Given the description of an element on the screen output the (x, y) to click on. 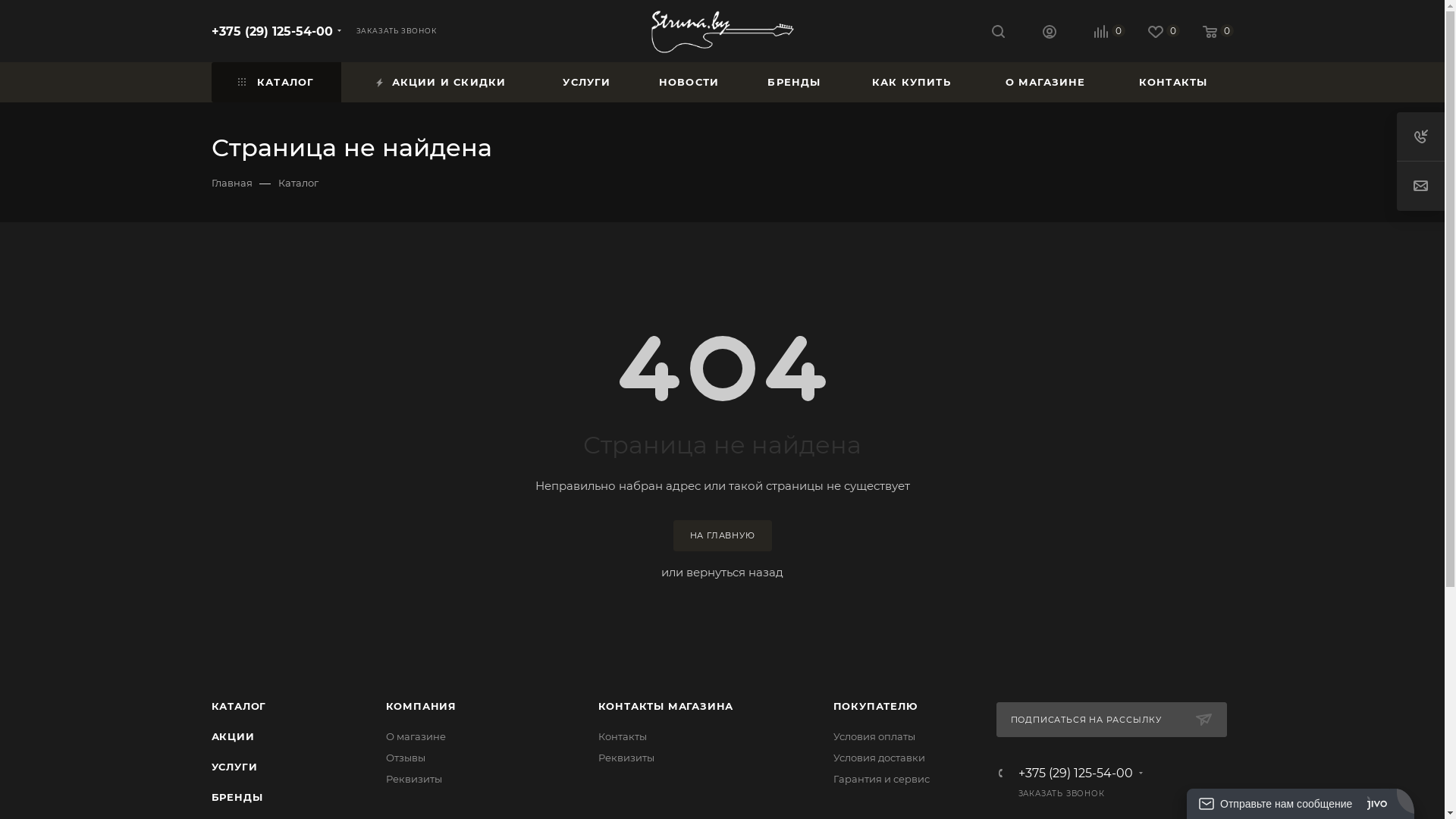
0 Element type: text (1206, 31)
0 Element type: text (1152, 31)
+375 (29) 125-54-00 Element type: text (1074, 773)
0 Element type: text (1097, 31)
+375 (29) 125-54-00 Element type: text (271, 31)
